Given the description of an element on the screen output the (x, y) to click on. 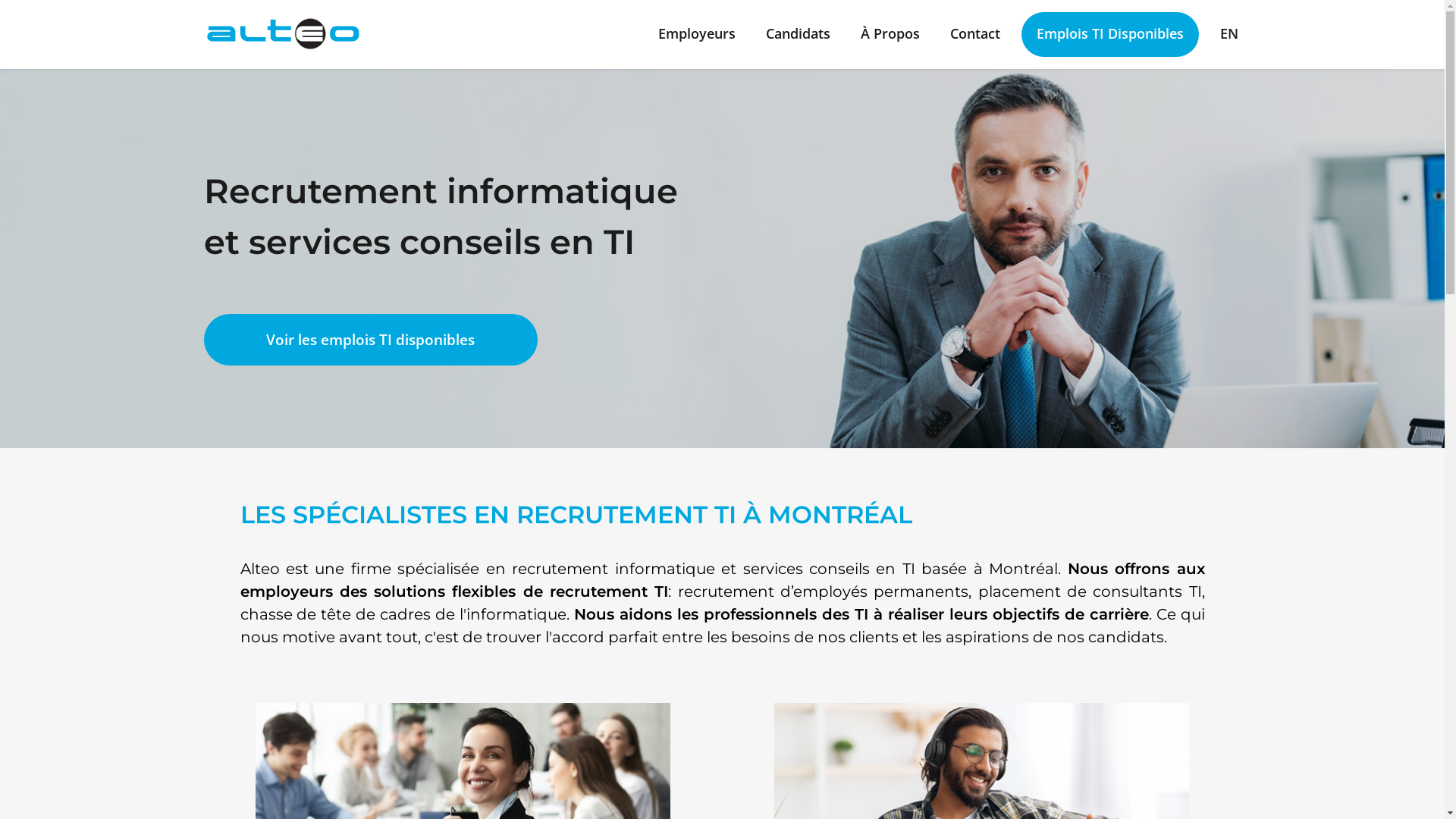
Emplois TI Disponibles Element type: text (1109, 34)
Contact Element type: text (974, 34)
EN Element type: text (1228, 34)
Employeurs Element type: text (696, 34)
Voir les emplois TI disponibles Element type: text (369, 338)
Candidats Element type: text (797, 34)
